Given the description of an element on the screen output the (x, y) to click on. 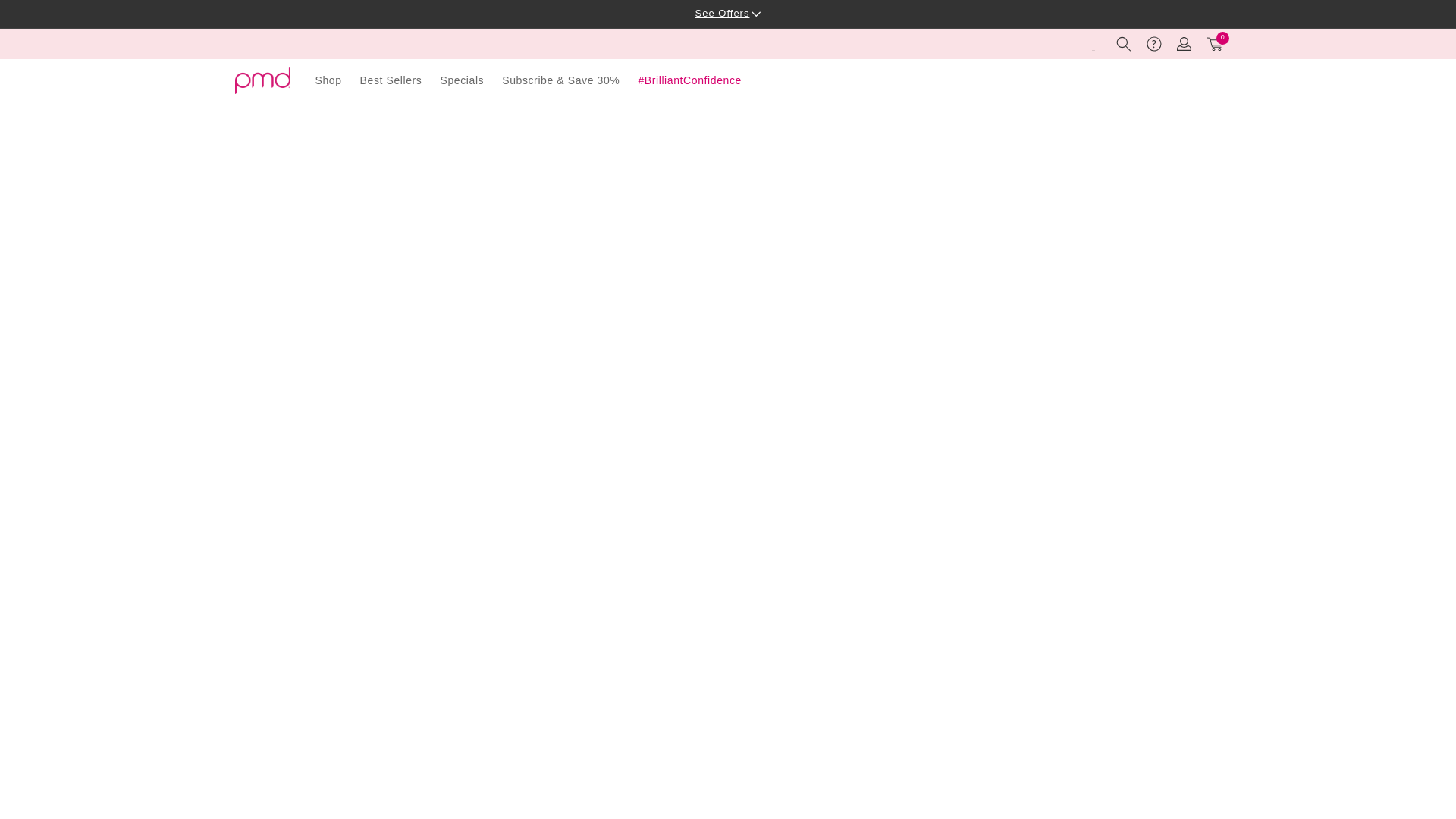
Log in (1184, 43)
Search (1123, 43)
Skip to content (46, 15)
See Offers (728, 12)
Search (1214, 43)
Help (1123, 43)
